Given the description of an element on the screen output the (x, y) to click on. 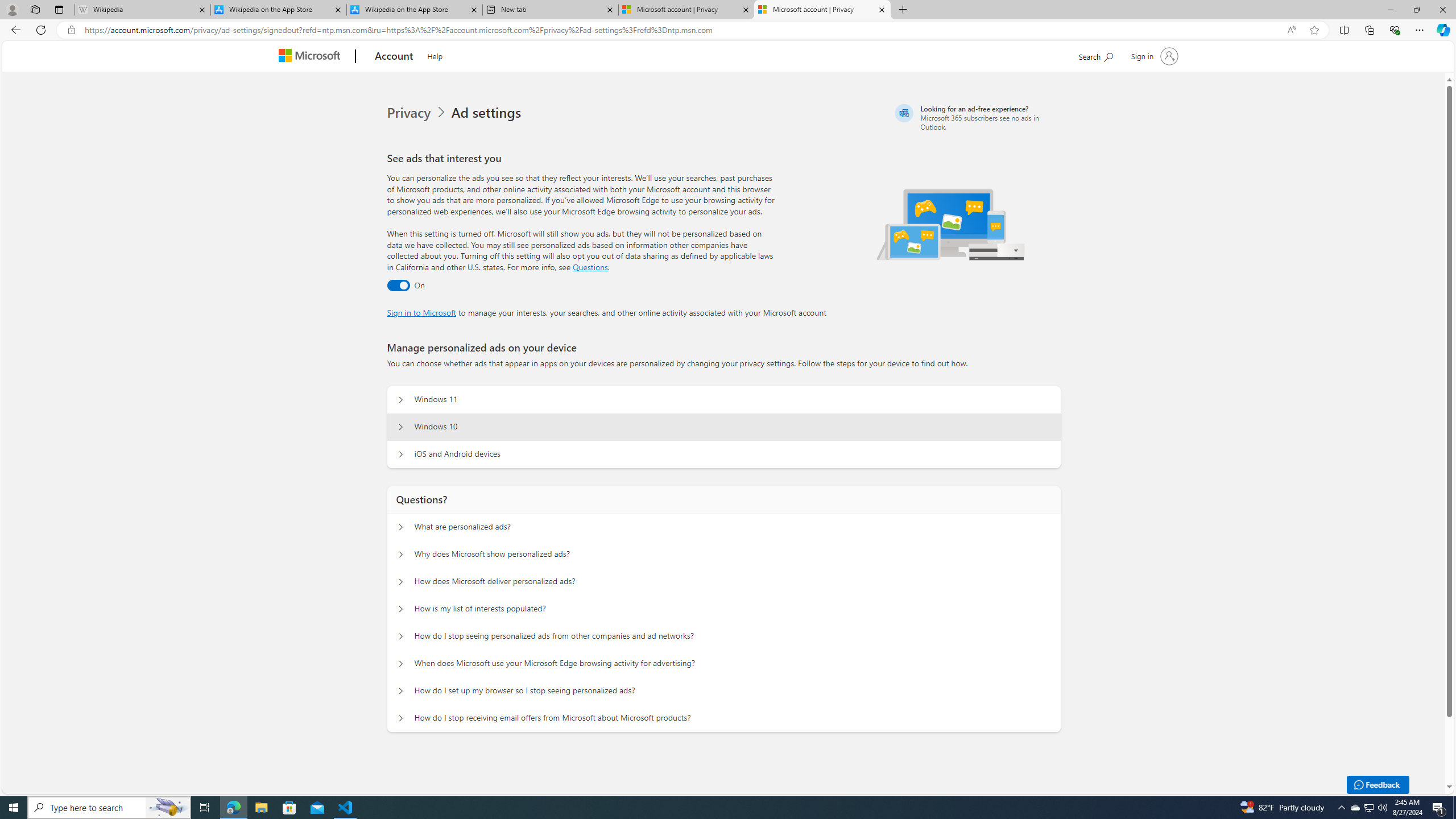
Manage personalized ads on your device Windows 11 (401, 400)
Add this page to favorites (Ctrl+D) (1314, 29)
Questions? How is my list of interests populated? (401, 608)
Tab actions menu (58, 9)
Read aloud this page (Ctrl+Shift+U) (1291, 29)
New tab (550, 9)
Privacy (418, 112)
Help (435, 54)
Ad settings toggle (398, 285)
Illustration of multiple devices (951, 224)
Questions? How does Microsoft deliver personalized ads? (401, 581)
